Given the description of an element on the screen output the (x, y) to click on. 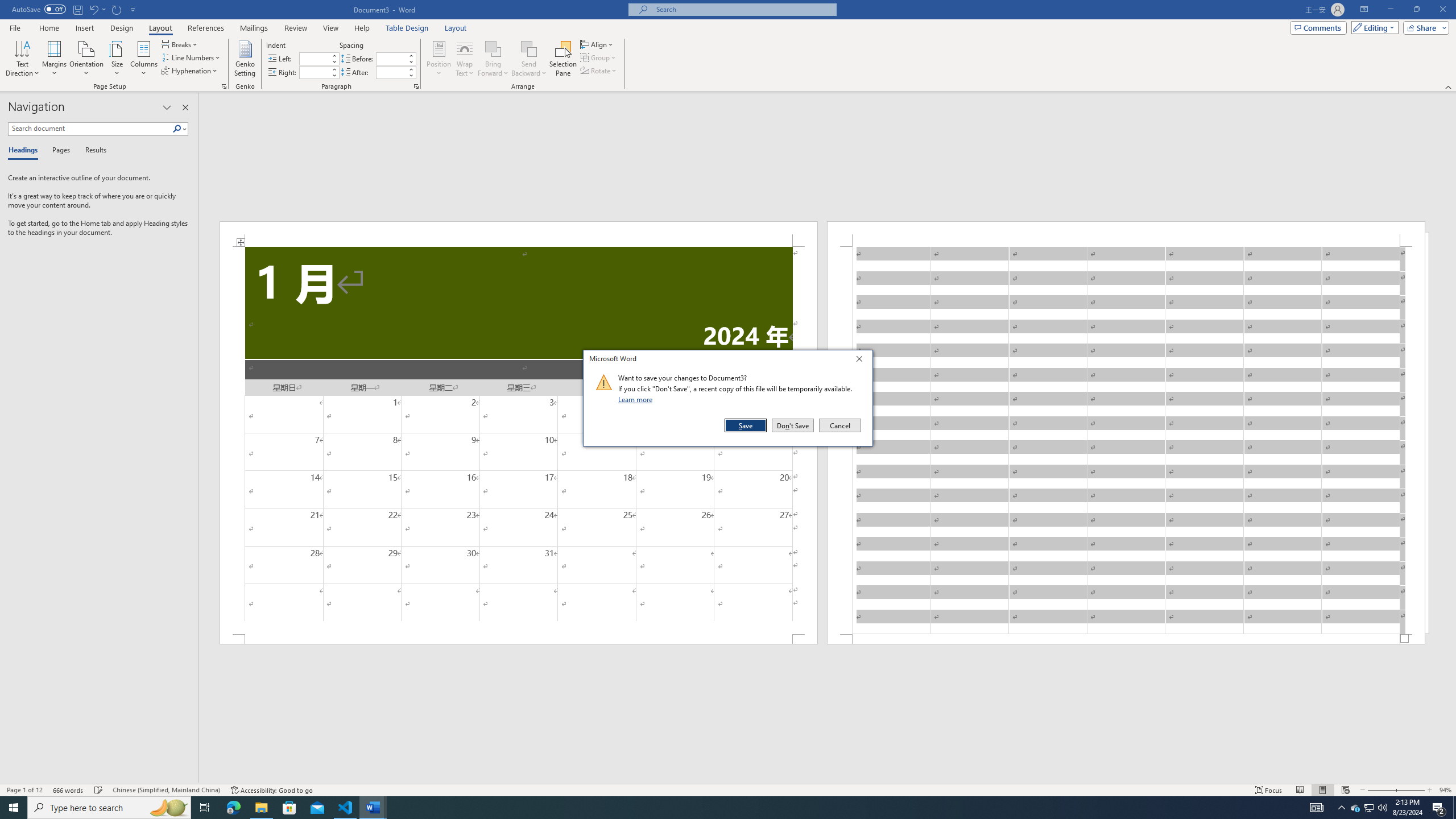
Page Setup... (223, 85)
Type here to search (108, 807)
AutomationID: 4105 (1316, 807)
More (411, 69)
Indent Right (314, 72)
Columns (143, 58)
Microsoft Store (289, 807)
Breaks (179, 44)
Send Backward (528, 48)
Spacing After (391, 72)
